Given the description of an element on the screen output the (x, y) to click on. 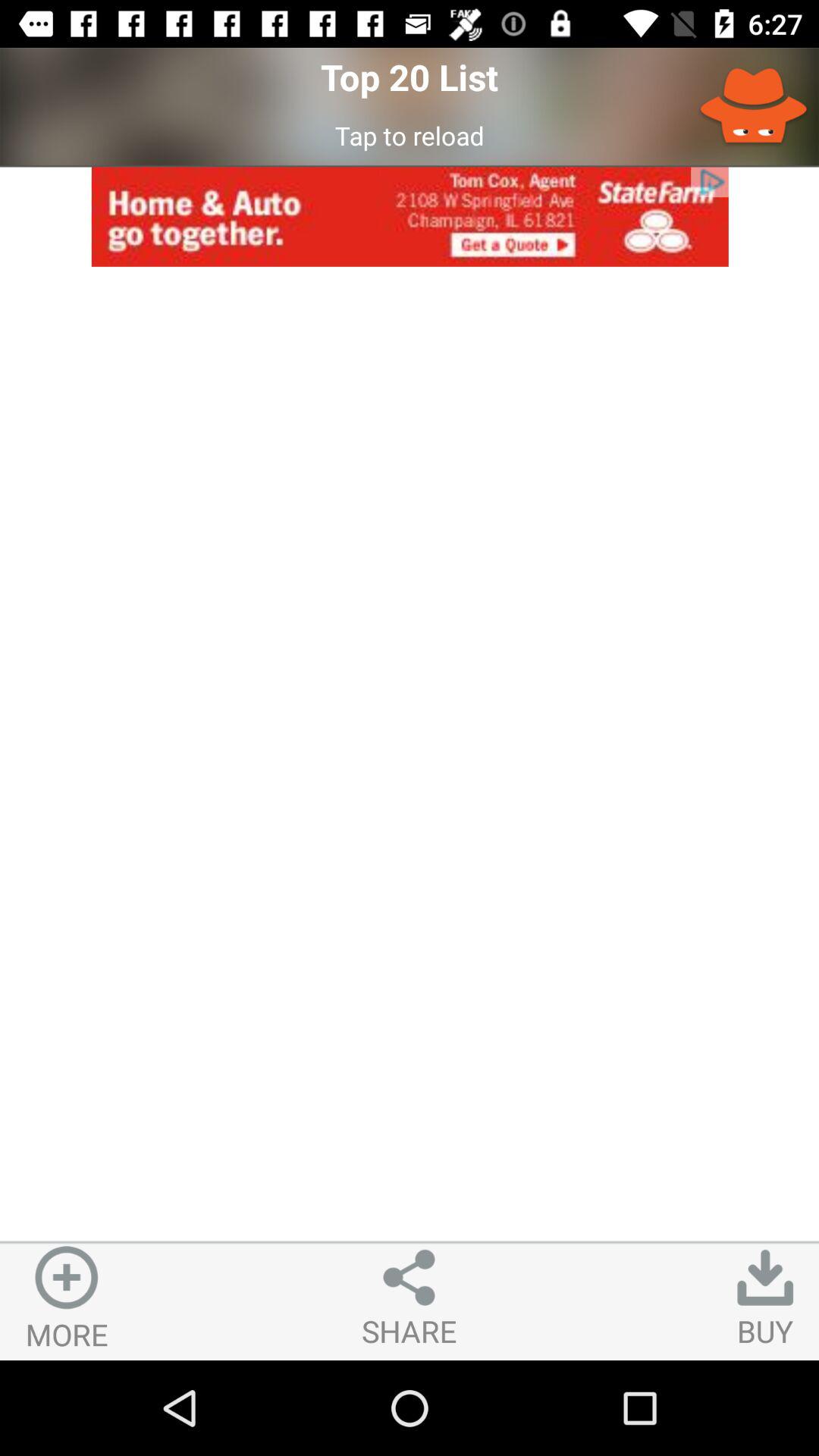
turn on item below the tap to reload icon (409, 216)
